Given the description of an element on the screen output the (x, y) to click on. 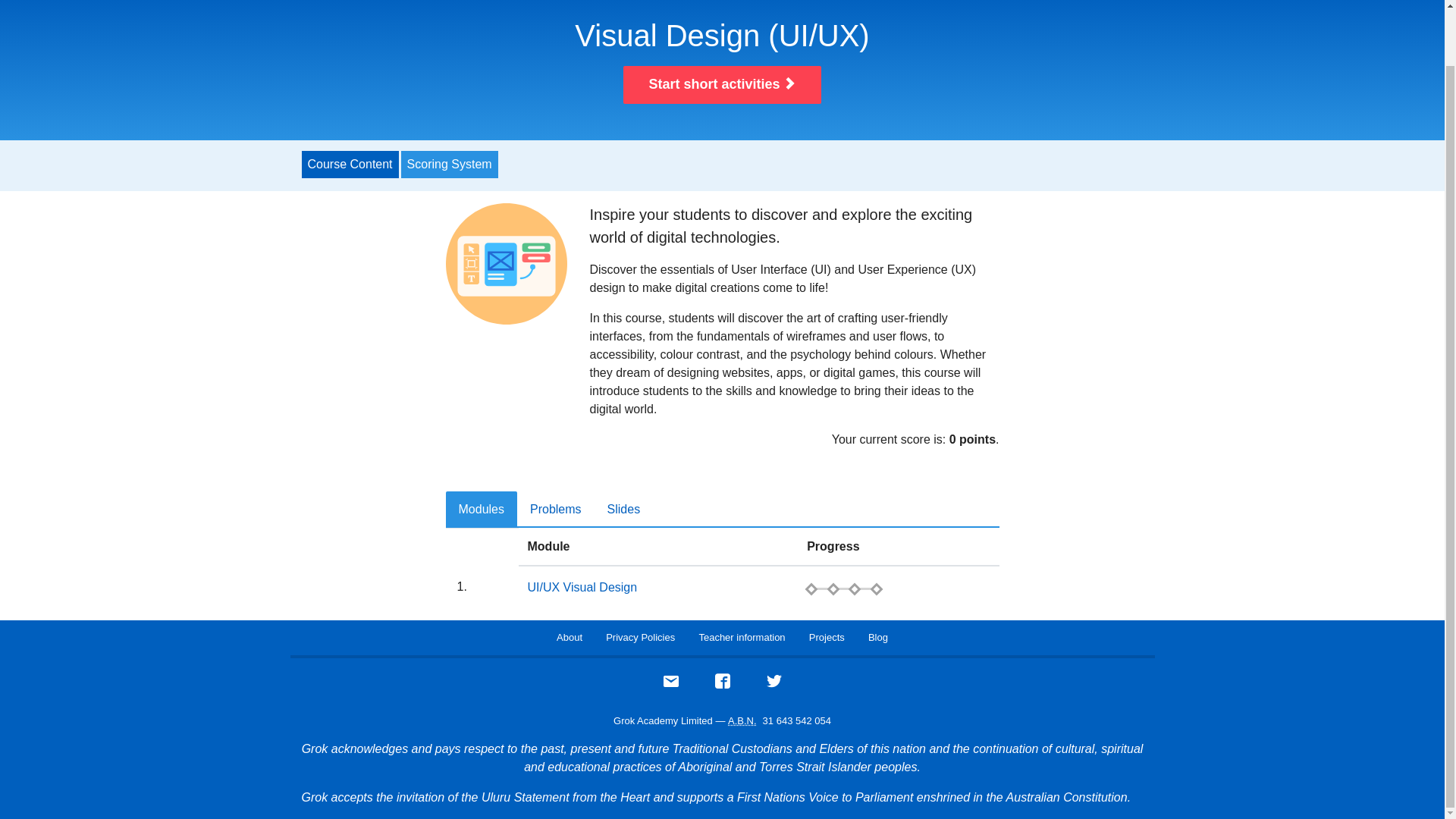
Email (670, 685)
Twitter (773, 685)
Facebook (721, 685)
Australian Business Number (742, 720)
